Given the description of an element on the screen output the (x, y) to click on. 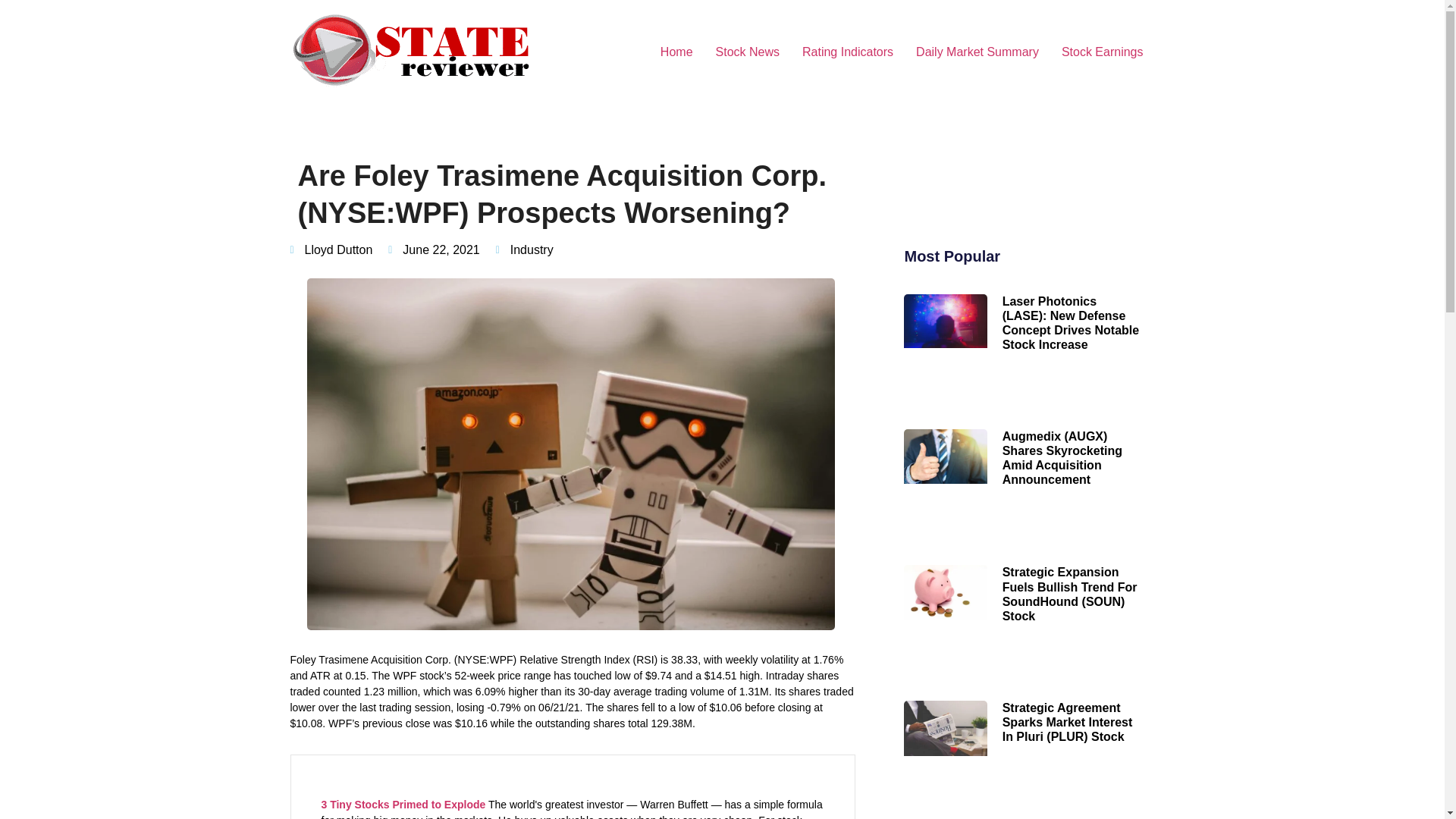
Lloyd Dutton (330, 249)
June 22, 2021 (433, 249)
Home (676, 51)
Stock News (747, 51)
Rating Indicators (847, 51)
Industry (532, 249)
3 Tiny Stocks Primed to Explode (403, 804)
Stock Earnings (1101, 51)
Daily Market Summary (976, 51)
